Given the description of an element on the screen output the (x, y) to click on. 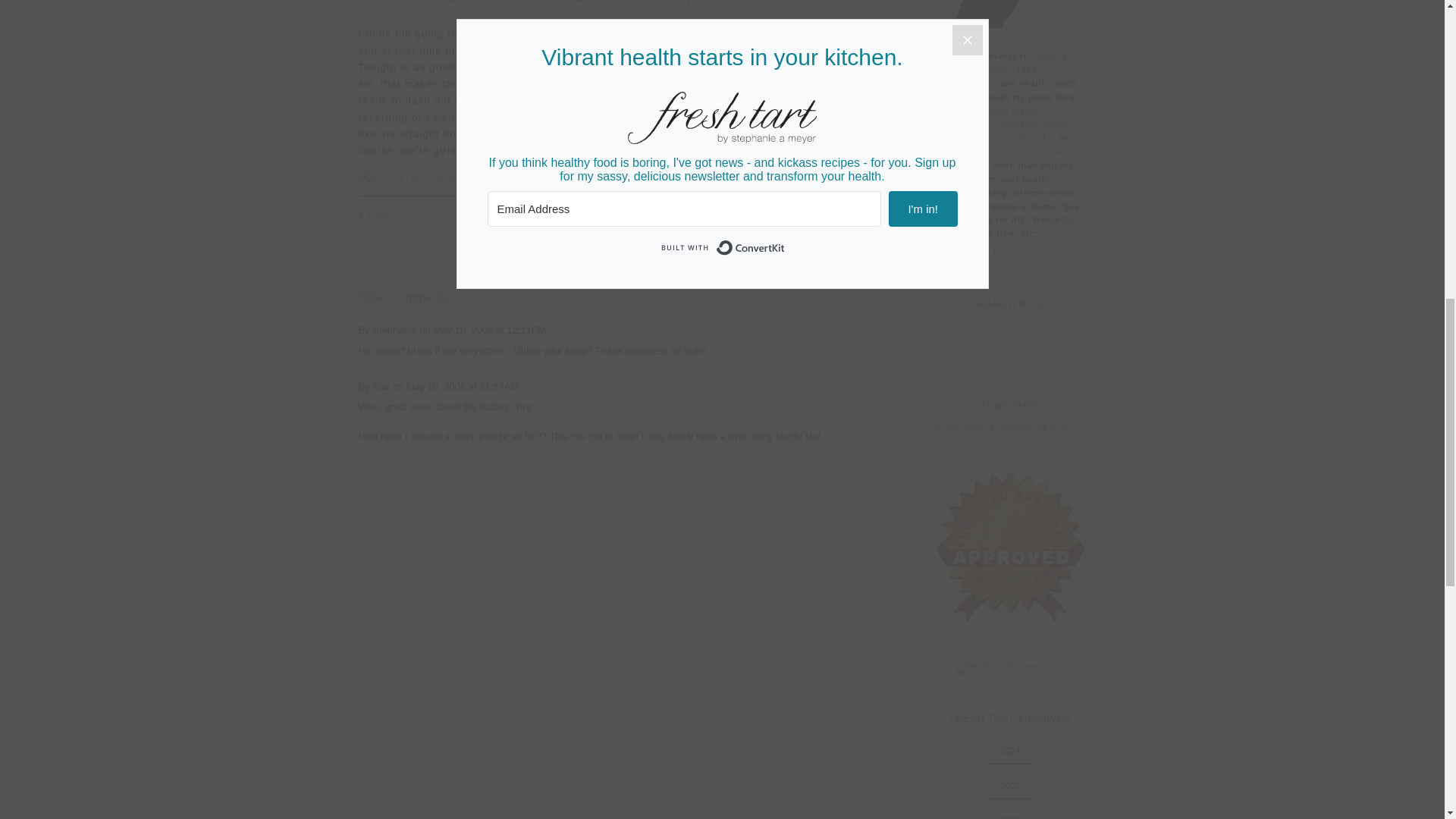
Project Vibrancy Macro Reset (986, 117)
Go (1010, 355)
Post (837, 214)
my cookbooks (1021, 137)
2024 (1010, 750)
2022 (1010, 785)
author (996, 69)
2021 (1010, 817)
Printer Friendly and PDF (608, 176)
Go (1010, 355)
Feminine Hijinx (467, 116)
Project Vibrancy Meals meal plans (1002, 130)
Post (379, 214)
cooking instructor (1001, 62)
working with you one-on-one (999, 151)
